Given the description of an element on the screen output the (x, y) to click on. 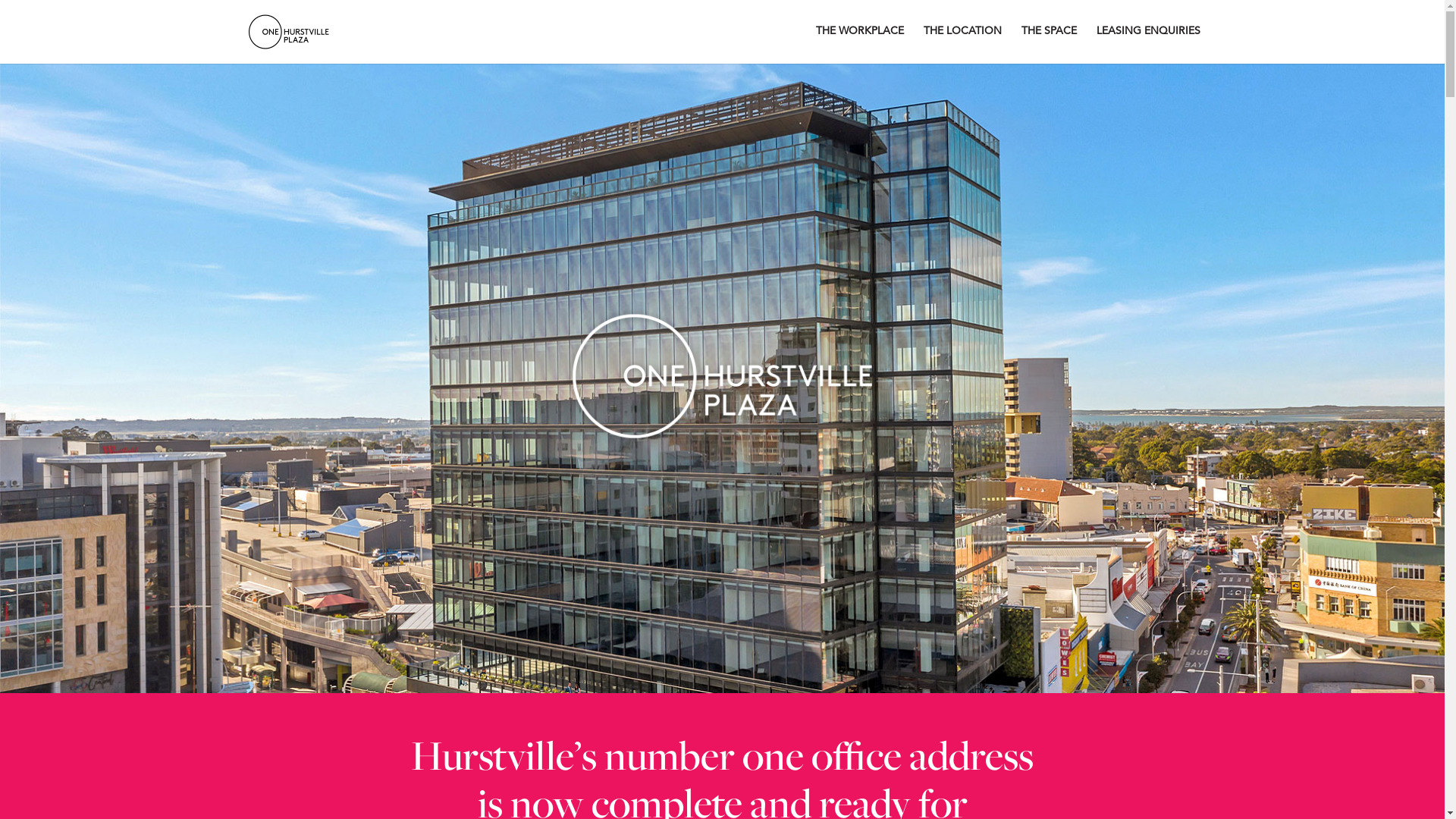
THE WORKPLACE Element type: text (859, 44)
THE SPACE Element type: text (1048, 44)
LEASING ENQUIRIES Element type: text (1148, 44)
THE LOCATION Element type: text (962, 44)
